Given the description of an element on the screen output the (x, y) to click on. 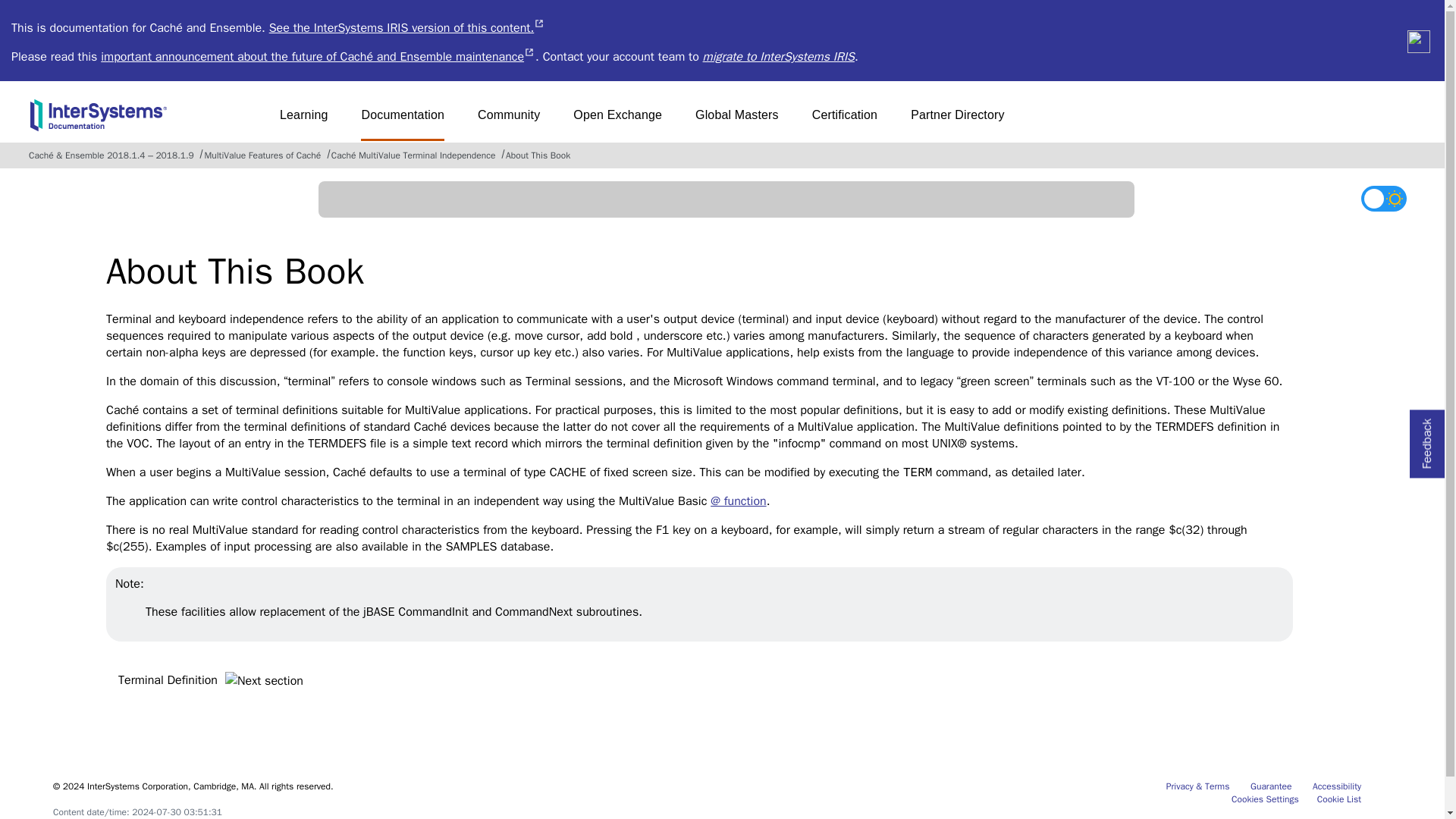
Learning (303, 120)
Terminal Definition (214, 680)
Terminal Definition (214, 680)
Documentation (1337, 786)
Open Exchange (402, 120)
Cookie List (617, 120)
Partner Directory (1339, 799)
Global Masters (957, 120)
Community (1270, 786)
migrate to InterSystems IRIS (736, 120)
Cookies Settings (508, 120)
